Given the description of an element on the screen output the (x, y) to click on. 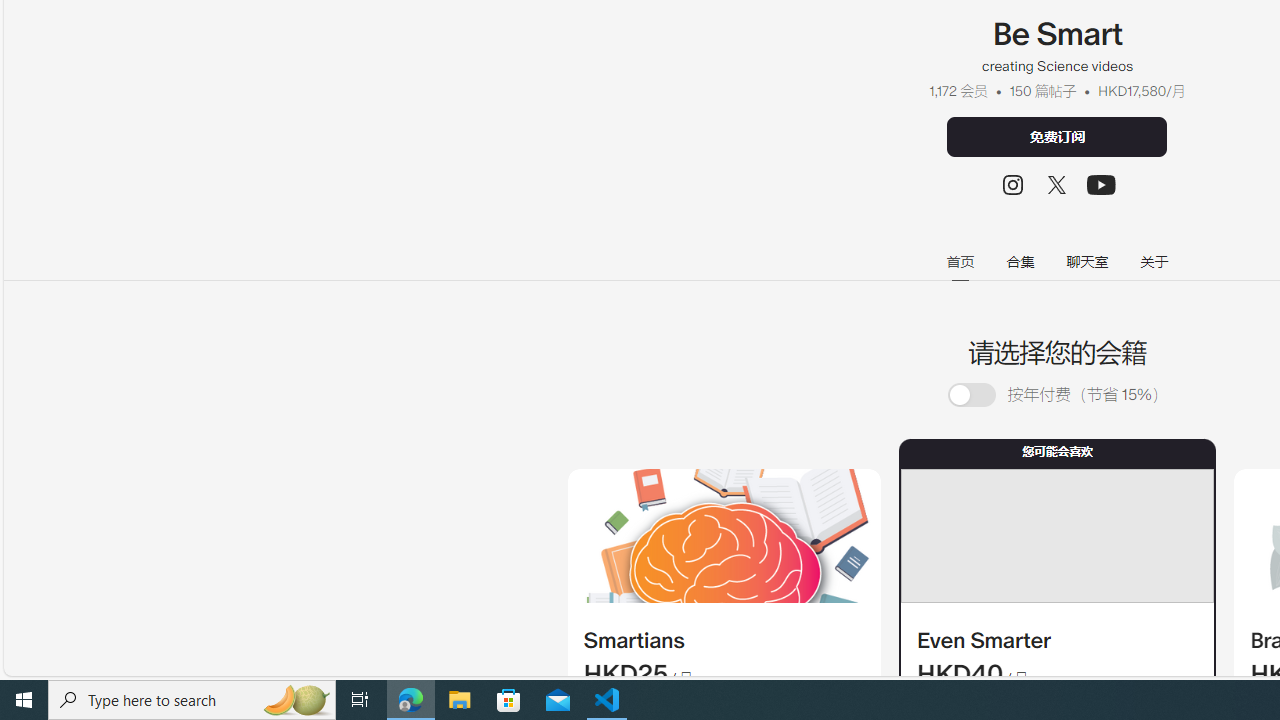
Class: sc-1a2jhmw-3 djwfLg (1056, 536)
Loading (982, 394)
To get missing image descriptions, open the context menu. (723, 536)
Loading (971, 395)
Class: sc-jrQzAO HeRcC sc-1b5vbhn-1 hqVCmM (1101, 184)
